Given the description of an element on the screen output the (x, y) to click on. 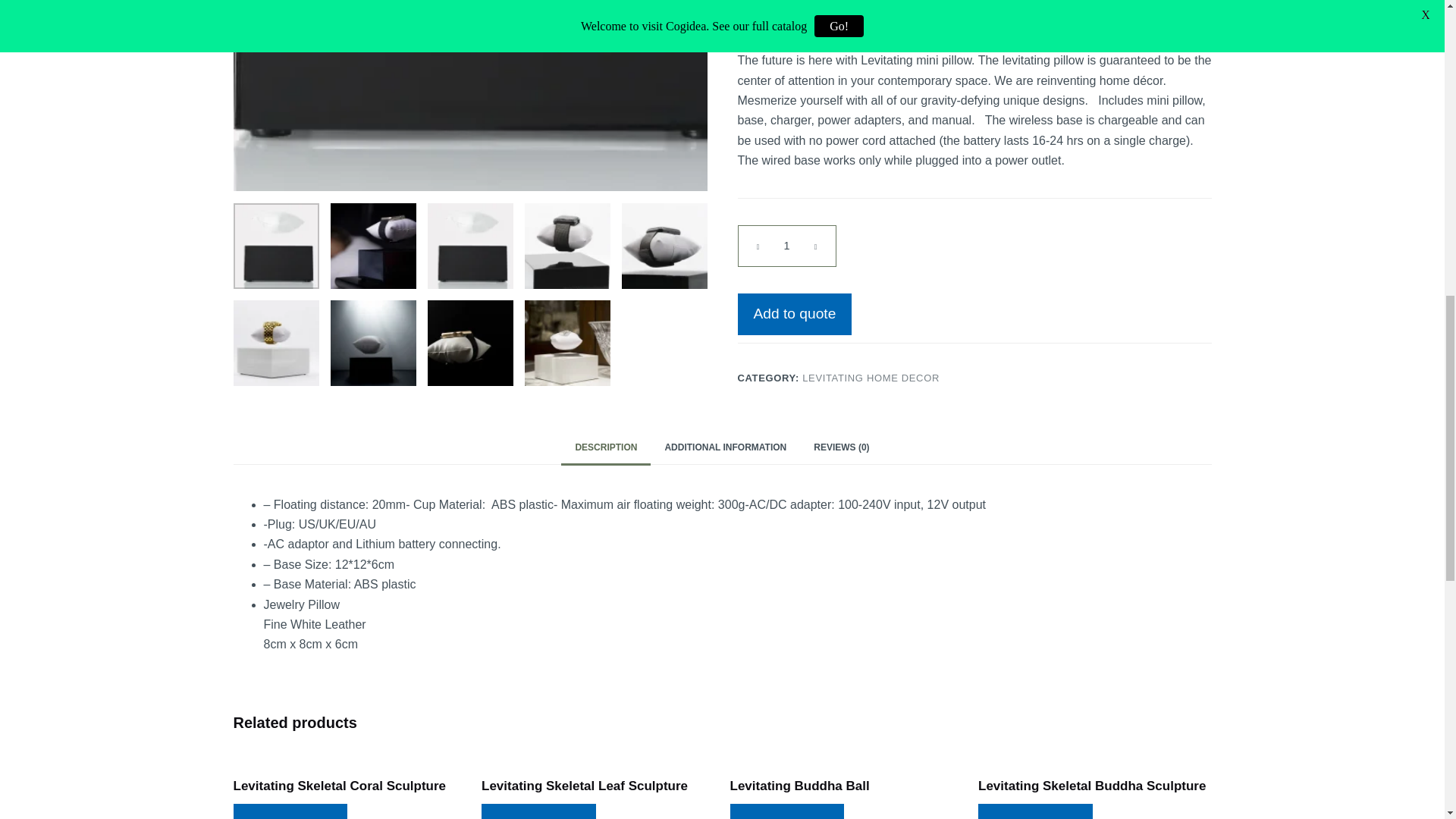
Levitating pillow (373, 246)
Wireless Pillow (469, 95)
Wireless Pillow (275, 246)
